Given the description of an element on the screen output the (x, y) to click on. 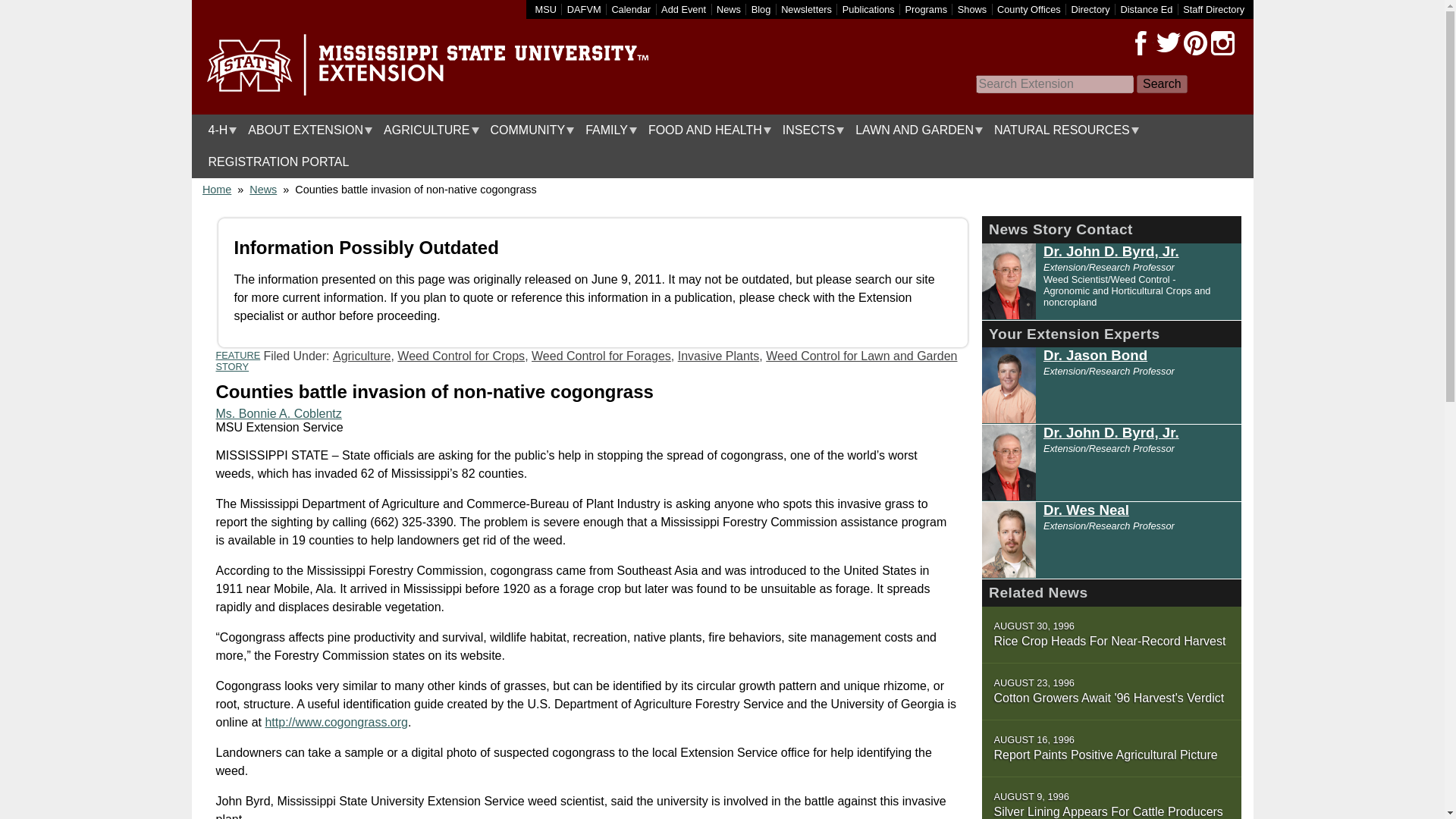
Blog (761, 9)
News (728, 9)
Link to Mississippi State University (545, 9)
DAFVM (584, 9)
The main event calendar for the MSU Extension Service (630, 9)
Calendar (630, 9)
Search (1162, 84)
Twitter (1167, 43)
